Given the description of an element on the screen output the (x, y) to click on. 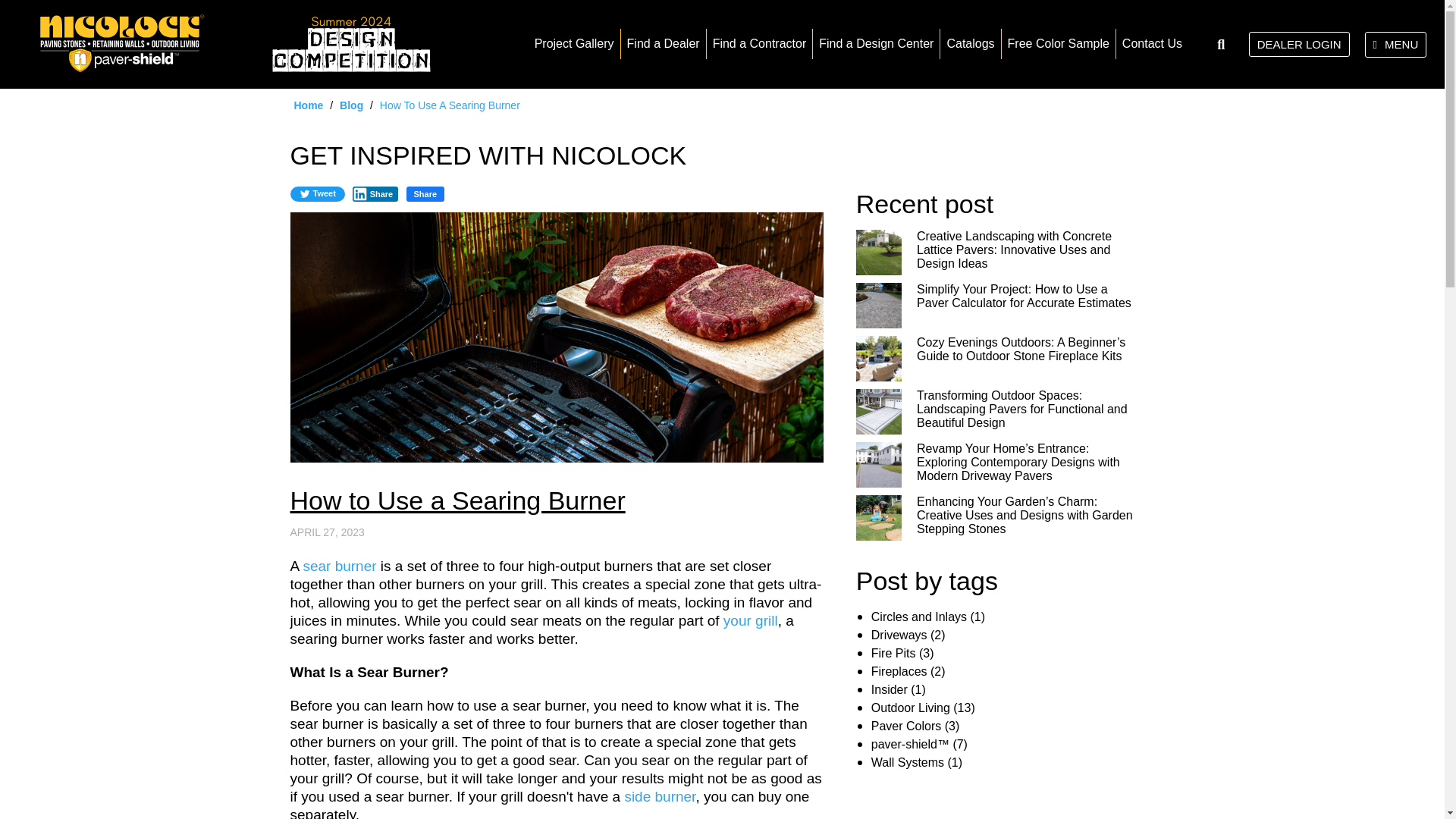
Catalogs (970, 44)
MENU (1395, 44)
Project Gallery (574, 44)
Home (308, 105)
Contact Us (1152, 44)
Share (425, 193)
Find a Dealer (663, 44)
Find a Design Center (875, 44)
